Given the description of an element on the screen output the (x, y) to click on. 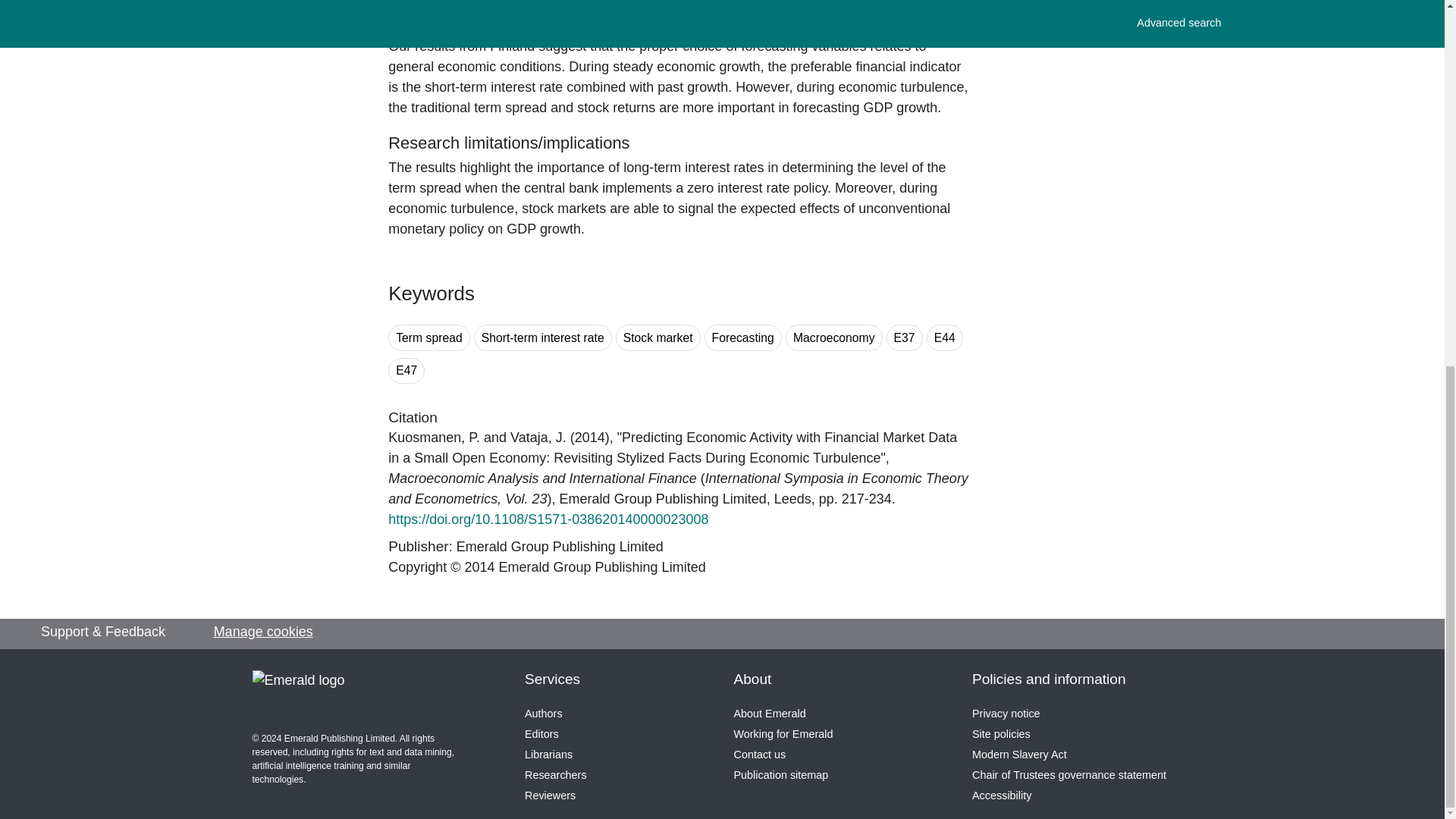
Short-term interest rate (542, 337)
Petri Kuosmanen (434, 437)
E37 (904, 337)
Forecasting (742, 337)
Search for keyword Short-term interest rate (542, 337)
Vataja, J. (538, 437)
Term spread (429, 337)
Stock market (657, 337)
Search for keyword E37 (904, 337)
Librarians (548, 754)
